Given the description of an element on the screen output the (x, y) to click on. 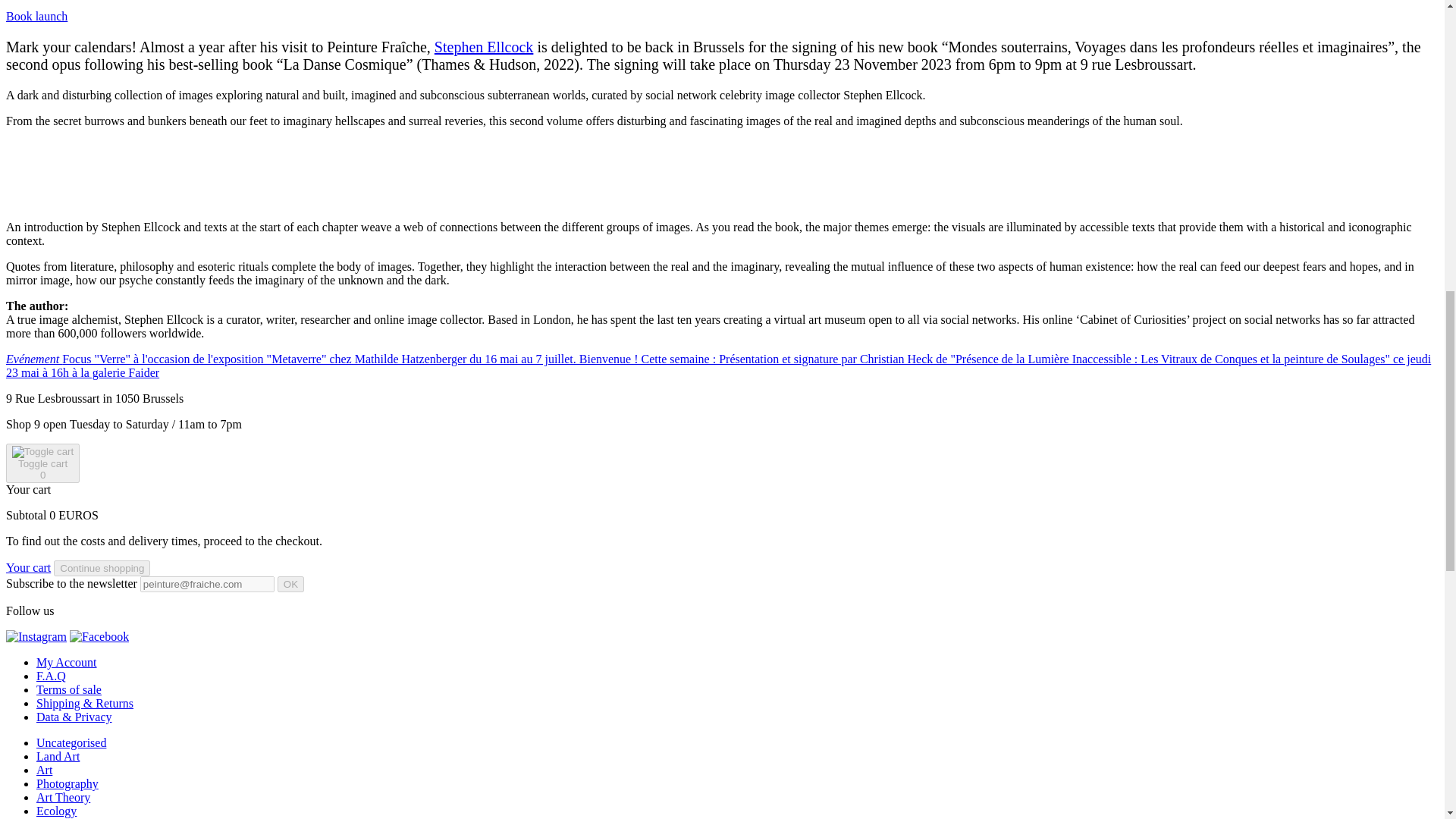
OK (291, 584)
F.A.Q (50, 675)
My Account (66, 662)
Terms of sale (68, 689)
